Given the description of an element on the screen output the (x, y) to click on. 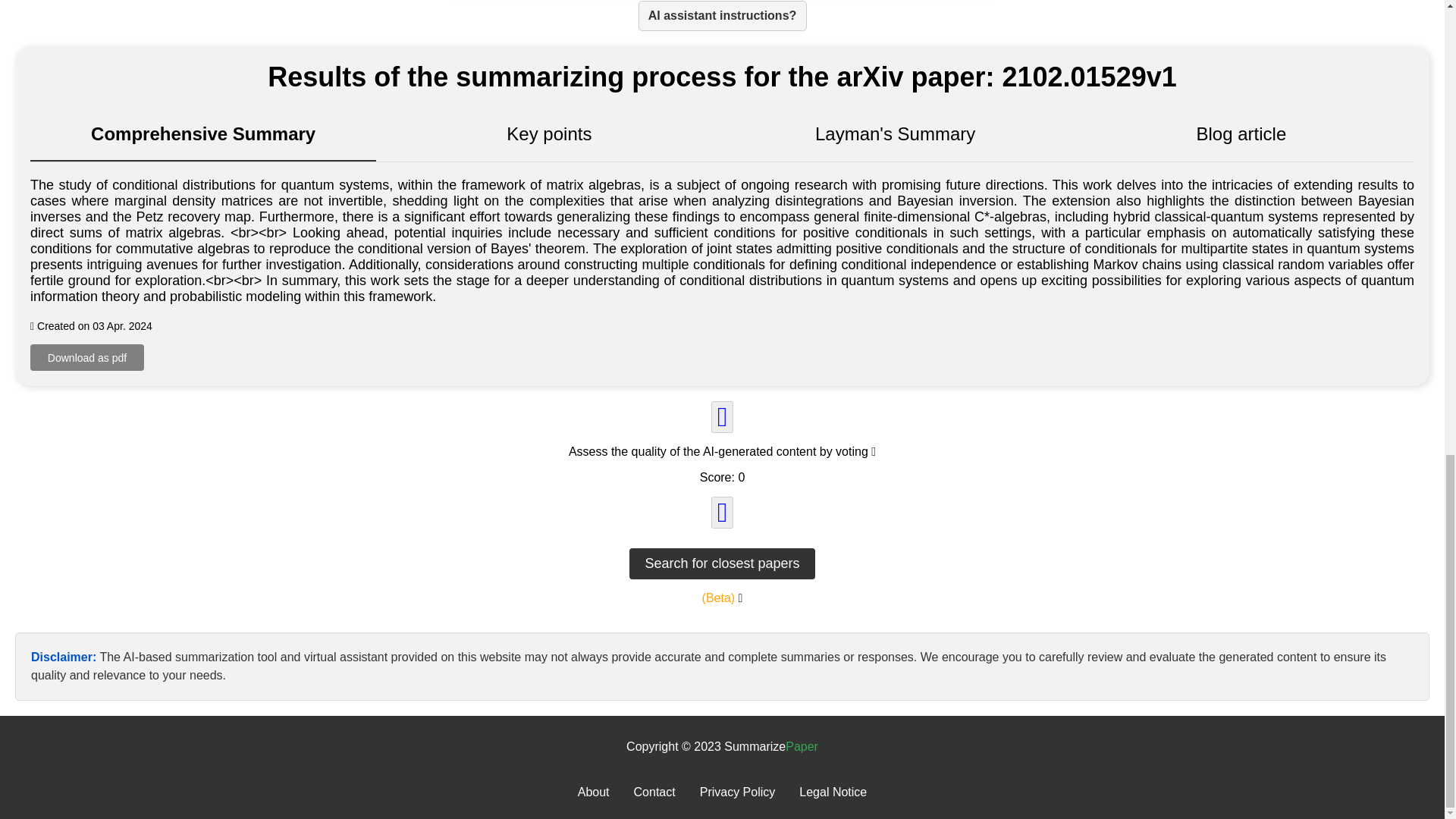
Search for closest papers (720, 563)
Download as pdf (87, 357)
Search for closest papers (720, 563)
Download as pdf (87, 357)
Contact (654, 791)
Privacy Policy (738, 791)
Legal Notice (832, 791)
About (594, 791)
AI assistant instructions? (722, 15)
